Given the description of an element on the screen output the (x, y) to click on. 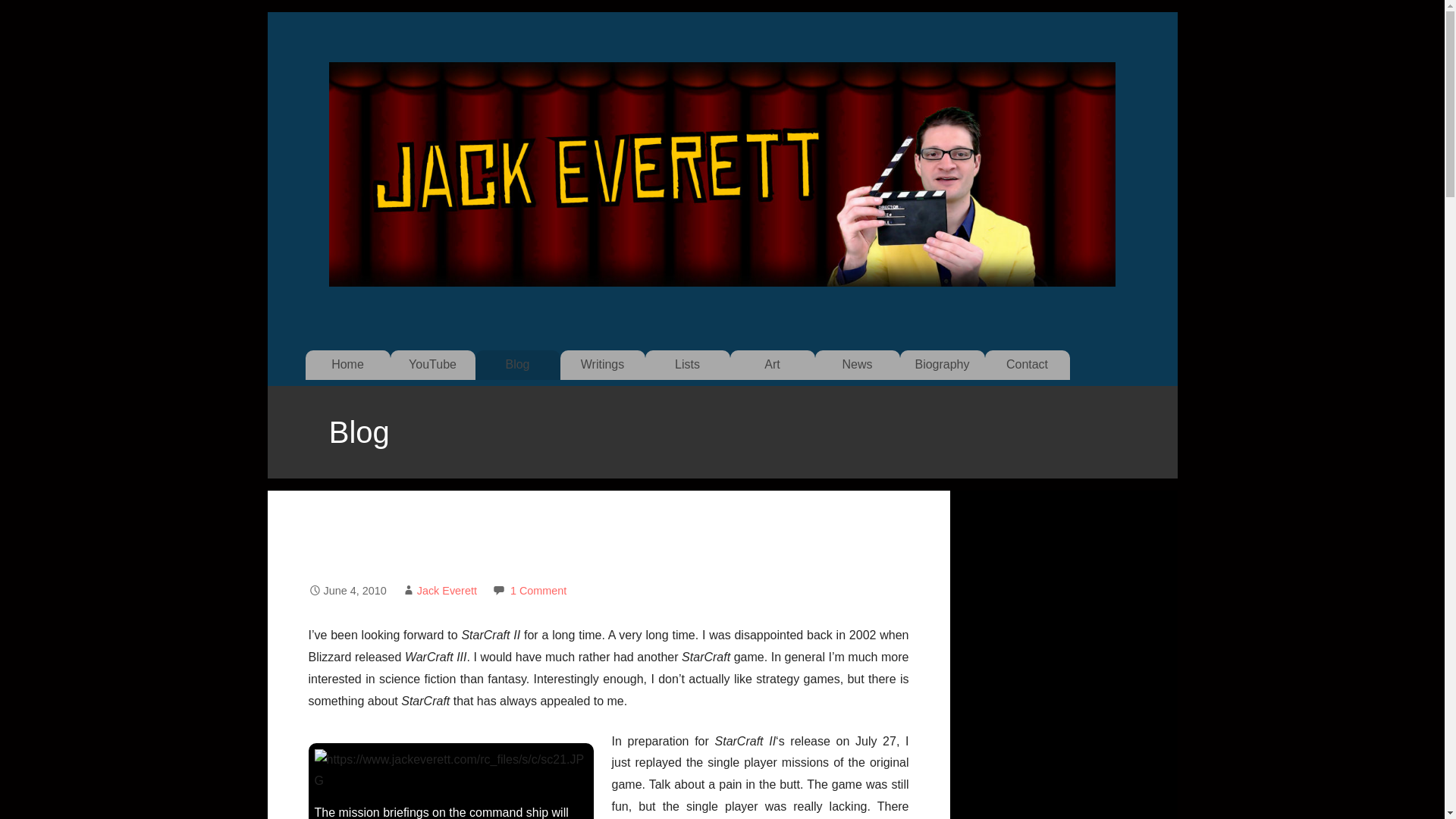
Jack Everett (446, 590)
Posts by Jack Everett (446, 590)
YouTube (432, 364)
1 Comment (538, 590)
Writings (602, 364)
Art (771, 364)
Search (31, 15)
Blog (516, 364)
Lists (687, 364)
